Given the description of an element on the screen output the (x, y) to click on. 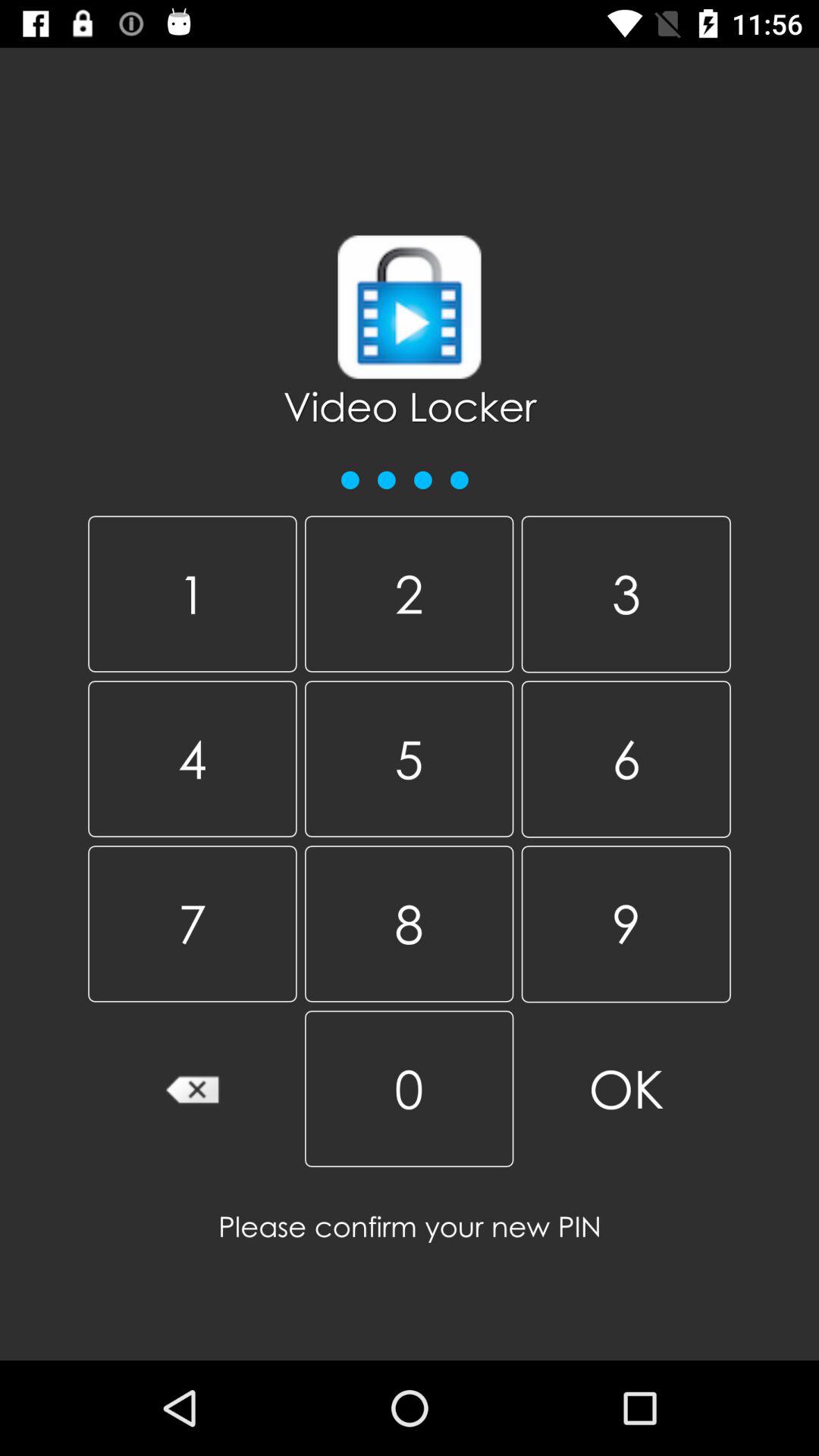
choose item next to the 8 icon (625, 1088)
